Given the description of an element on the screen output the (x, y) to click on. 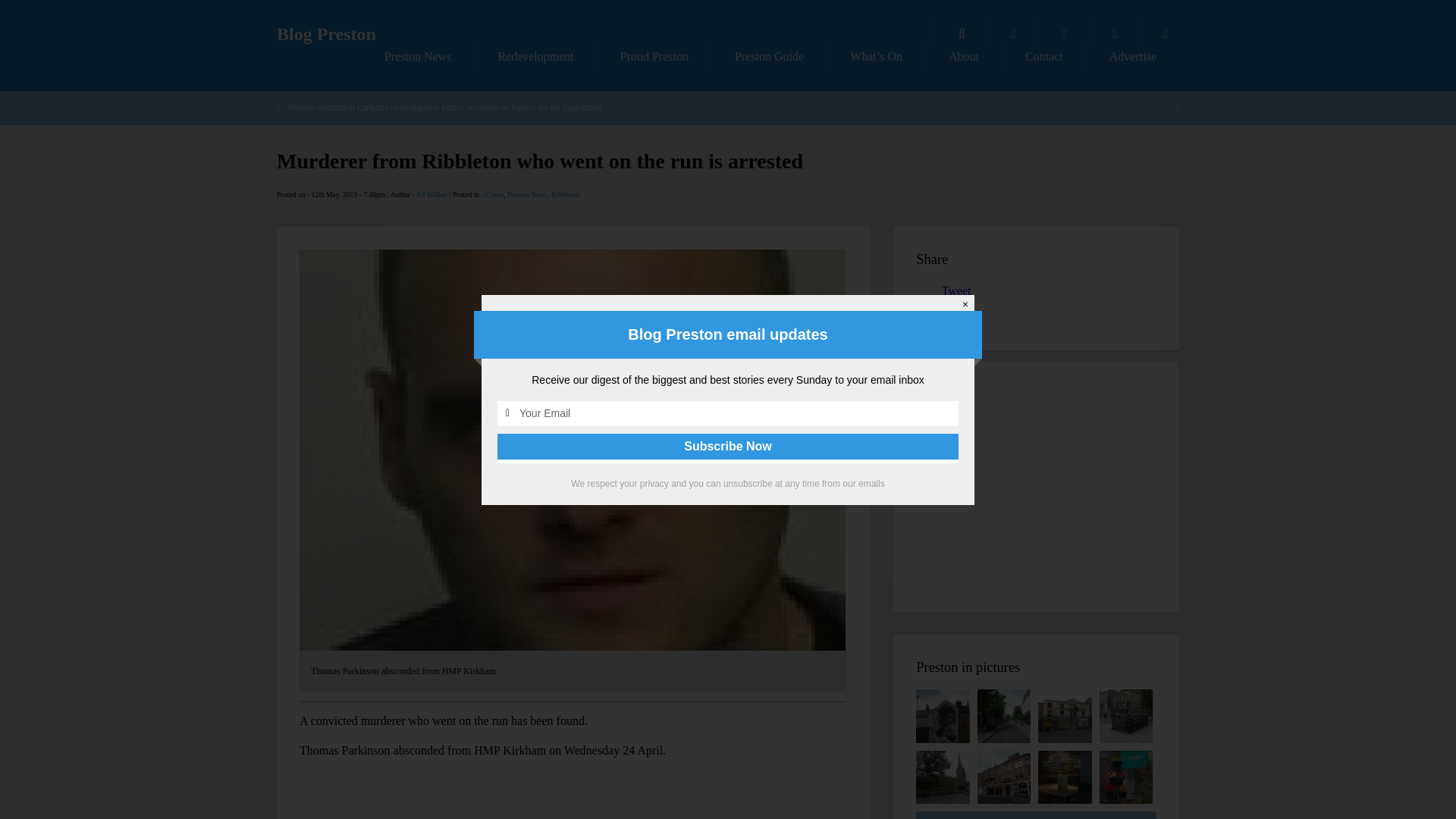
Advertise on Blog Preston (1132, 56)
Latest Preston news (417, 56)
Ed Walker (431, 194)
Blog Preston (325, 33)
Proud Preston (653, 56)
Crime (493, 194)
About (963, 56)
Redevelopment news in and around Preston (534, 56)
Blog Preston on Instagram (1165, 33)
Advertise (1132, 56)
